Given the description of an element on the screen output the (x, y) to click on. 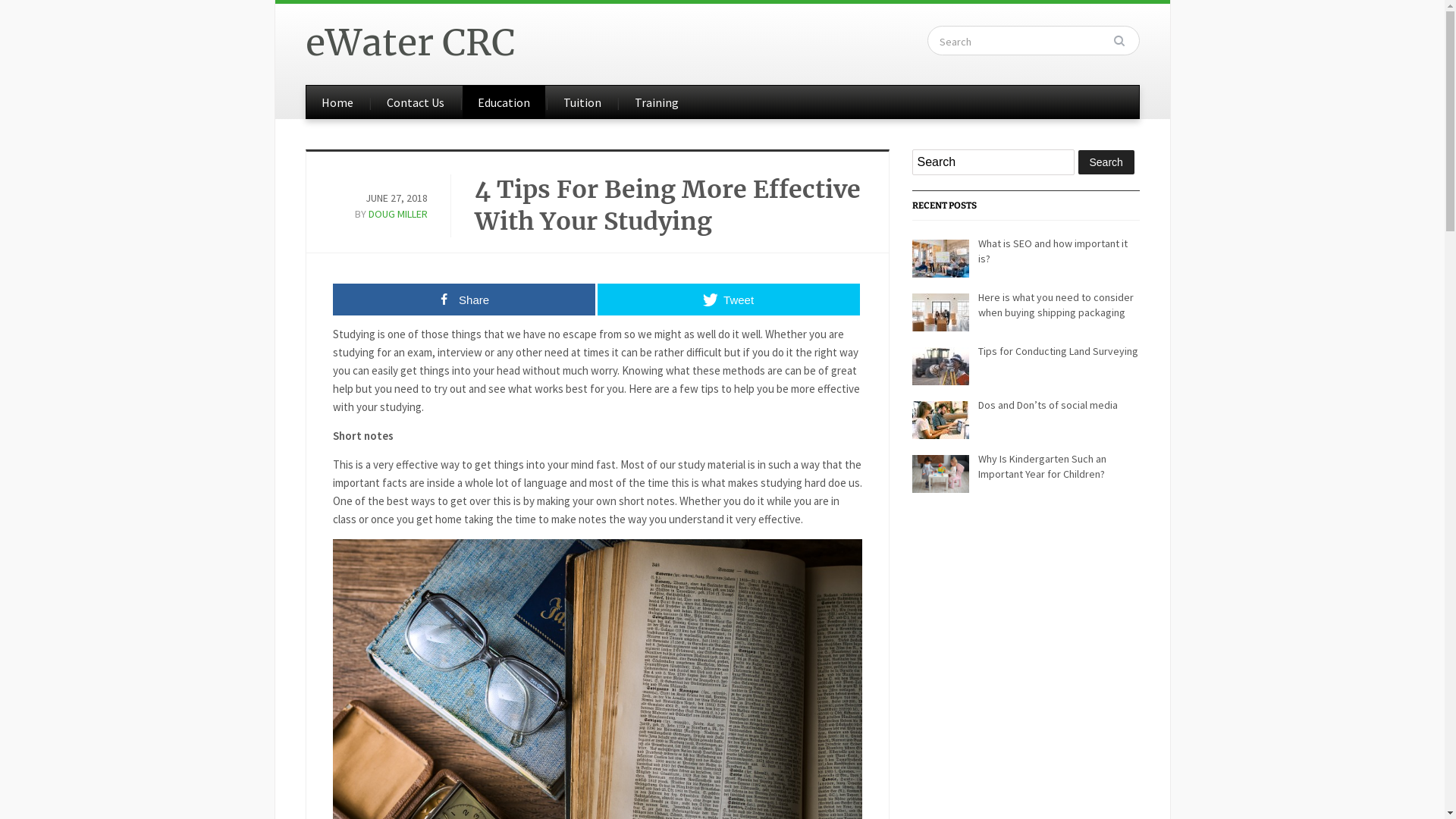
4 Tips For Being More Effective With Your Studying Element type: text (667, 205)
Home Element type: text (337, 102)
Tuition Element type: text (581, 102)
Search Element type: text (1106, 162)
Contact Us Element type: text (415, 102)
What is SEO and how important it is? Element type: text (1052, 250)
Search Element type: text (1124, 40)
Why Is Kindergarten Such an Important Year for Children? Element type: text (1042, 465)
Tips for Conducting Land Surveying Element type: text (1058, 350)
eWater CRC Element type: text (409, 42)
Education Element type: text (503, 102)
DOUG MILLER Element type: text (397, 213)
Training Element type: text (655, 102)
Tweet Element type: text (728, 299)
Share Element type: text (463, 299)
